Given the description of an element on the screen output the (x, y) to click on. 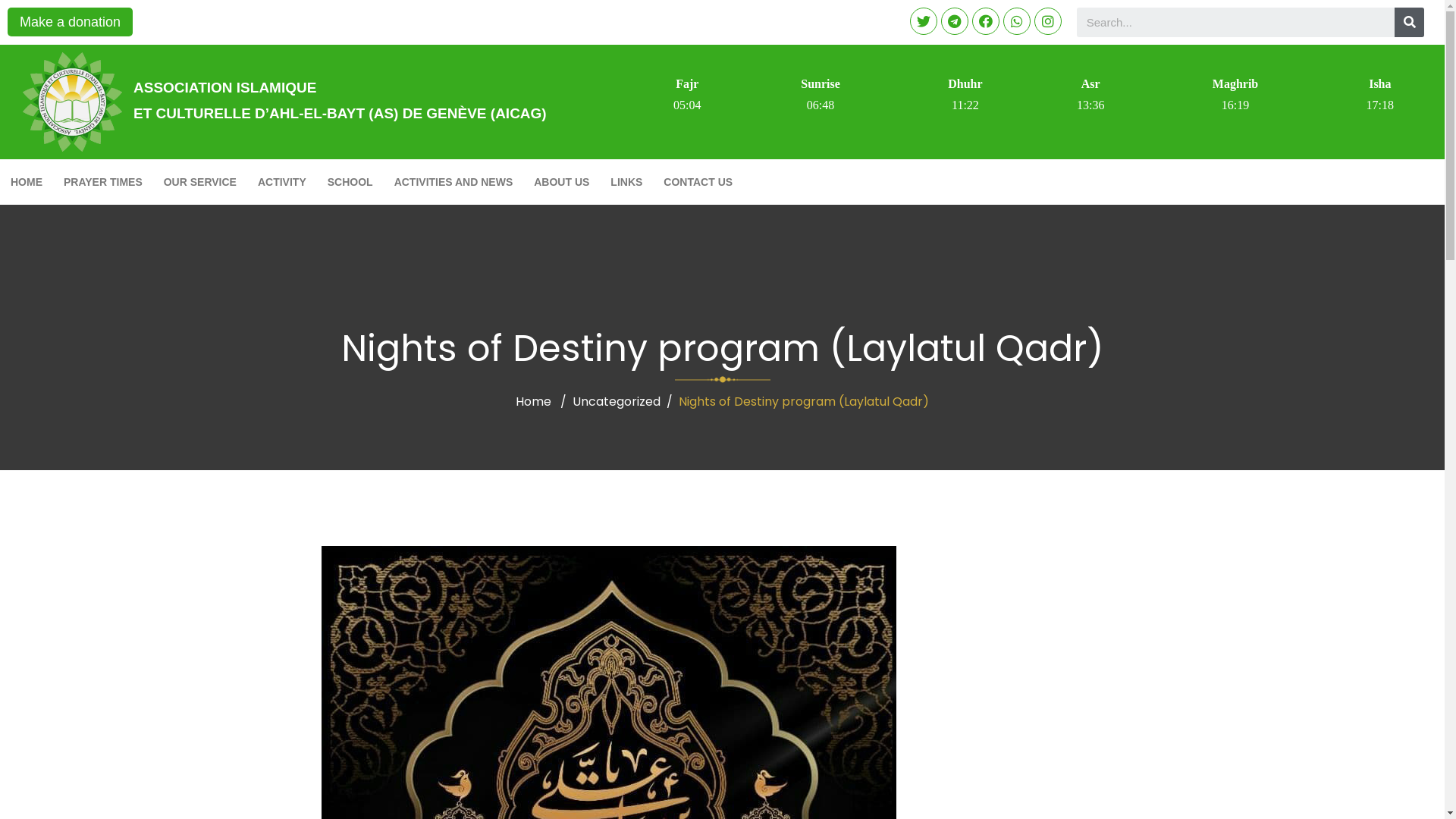
Uncategorized Element type: text (616, 401)
ABOUT US Element type: text (561, 181)
CONTACT US Element type: text (697, 181)
OUR SERVICE Element type: text (200, 181)
ASSOCIATION ISLAMIQUE Element type: text (224, 87)
Make a donation Element type: text (69, 21)
LINKS Element type: text (625, 181)
ACTIVITIES AND NEWS Element type: text (453, 181)
SCHOOL Element type: text (349, 181)
PRAYER TIMES Element type: text (103, 181)
Home Element type: text (533, 401)
Search Element type: hover (1235, 22)
HOME Element type: text (26, 181)
Search Element type: hover (1409, 22)
ACTIVITY Element type: text (281, 181)
